Given the description of an element on the screen output the (x, y) to click on. 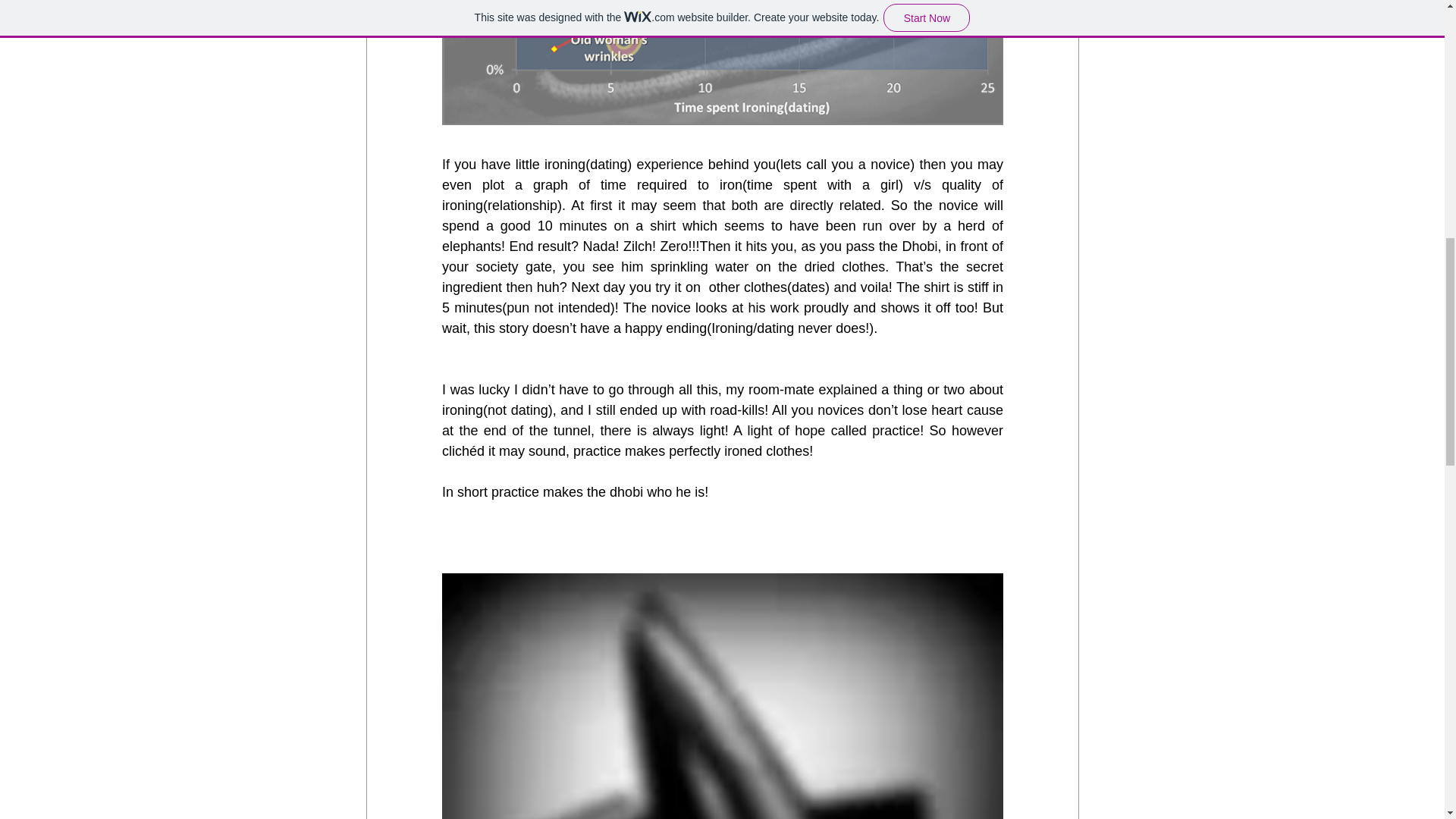
Dhobi (919, 246)
novices (839, 409)
ironing (564, 164)
